Given the description of an element on the screen output the (x, y) to click on. 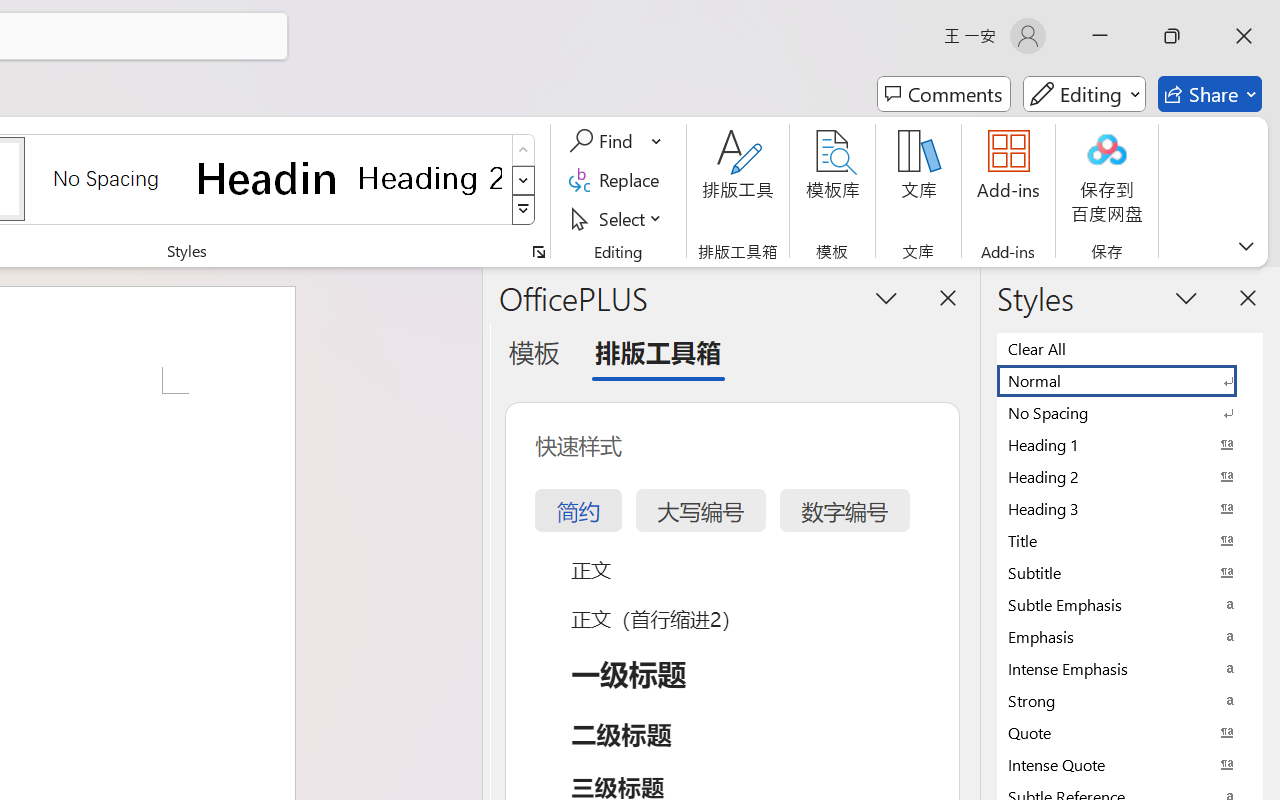
Row up (523, 150)
